Given the description of an element on the screen output the (x, y) to click on. 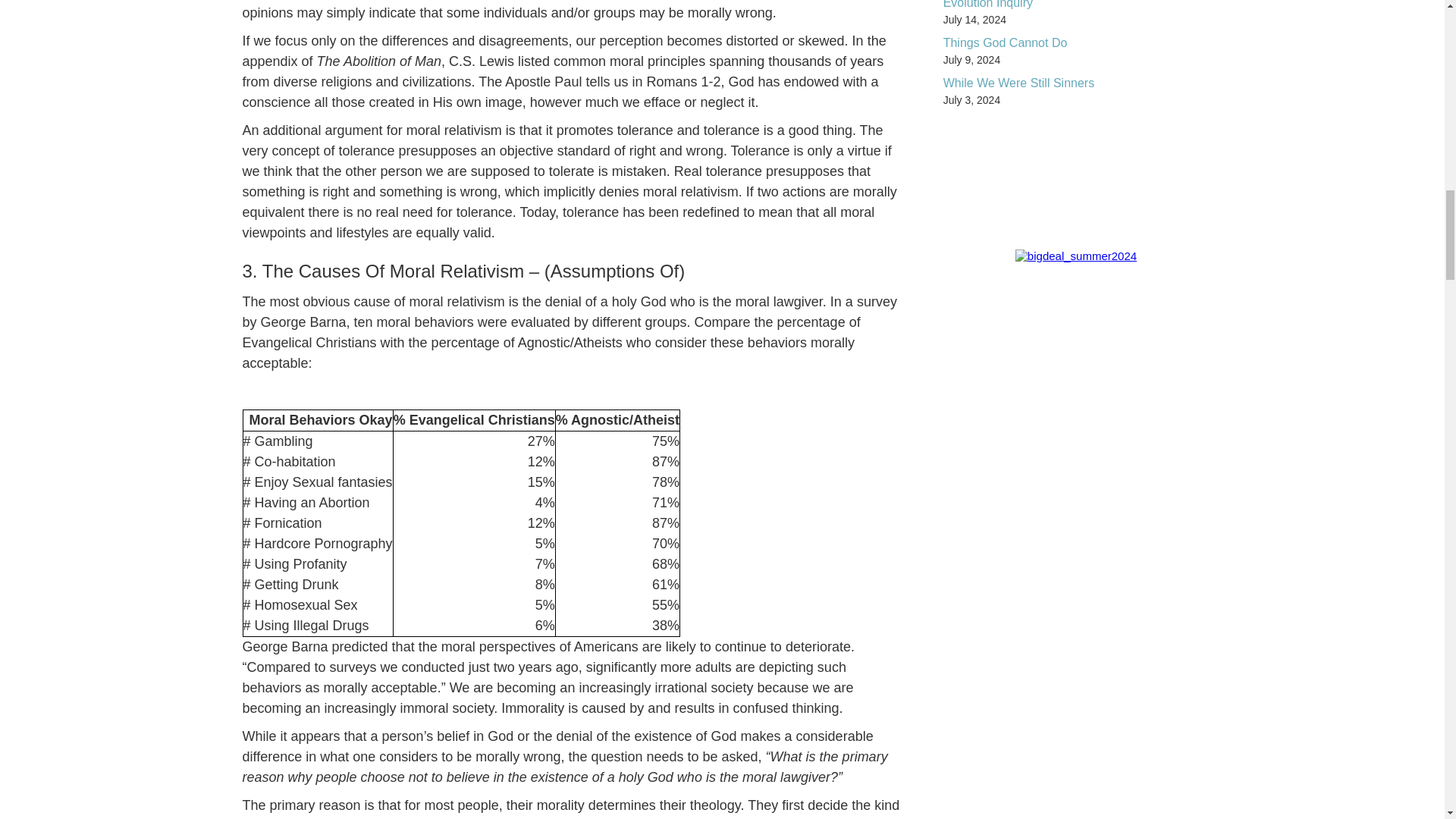
Embedded CTA (1075, 256)
